Given the description of an element on the screen output the (x, y) to click on. 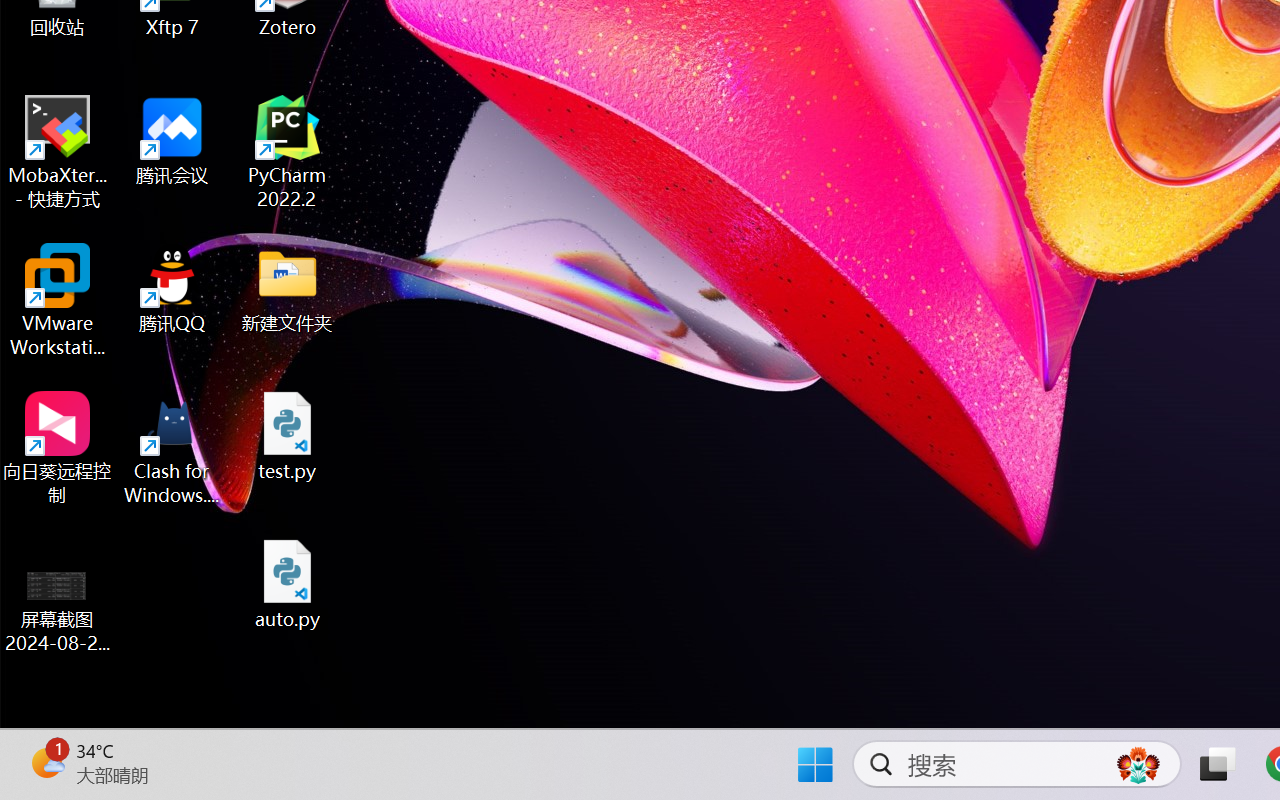
PyCharm 2022.2 (287, 152)
